Given the description of an element on the screen output the (x, y) to click on. 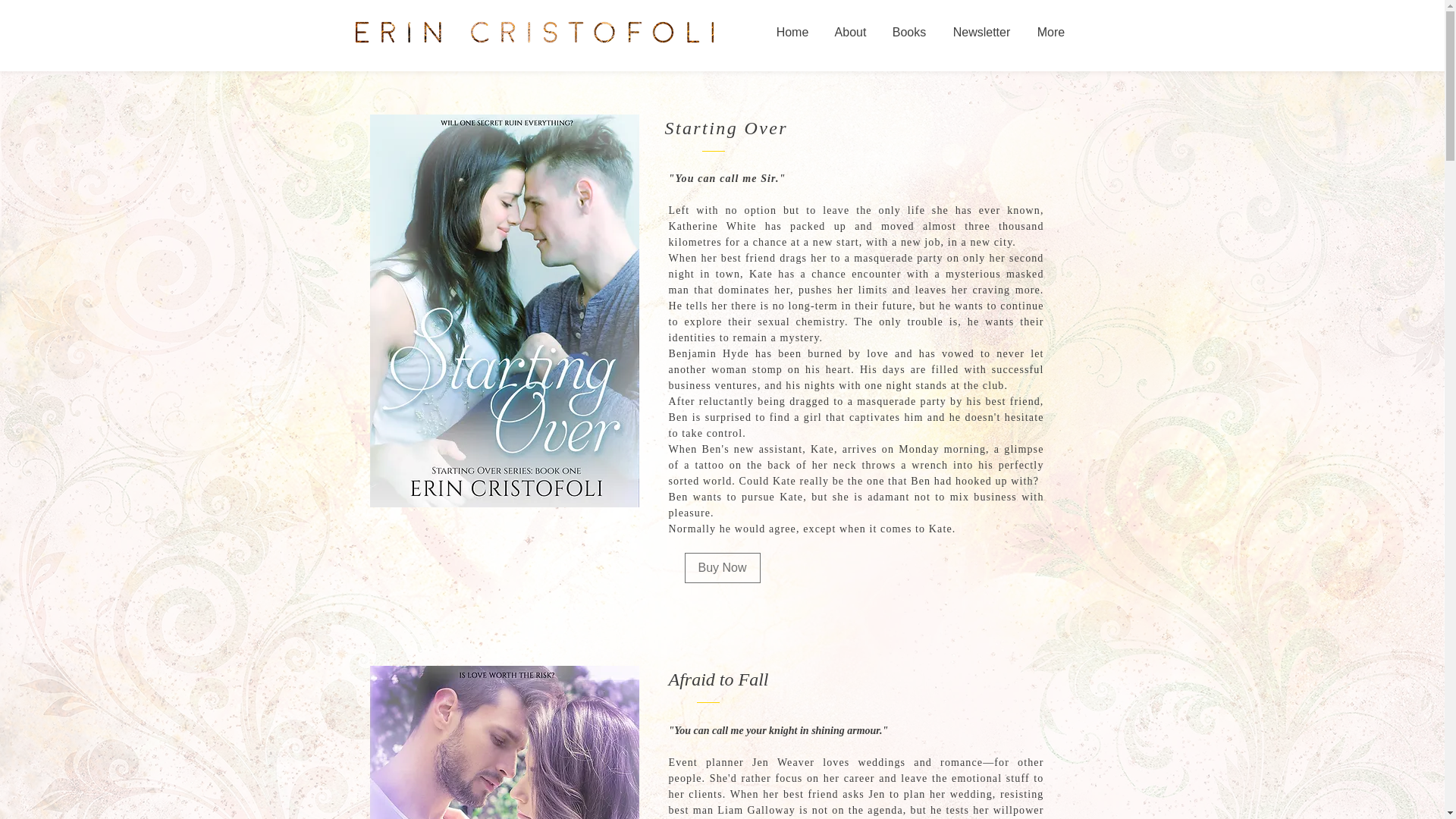
About (850, 31)
Buy Now (722, 567)
Newsletter (981, 31)
Home (791, 31)
